Given the description of an element on the screen output the (x, y) to click on. 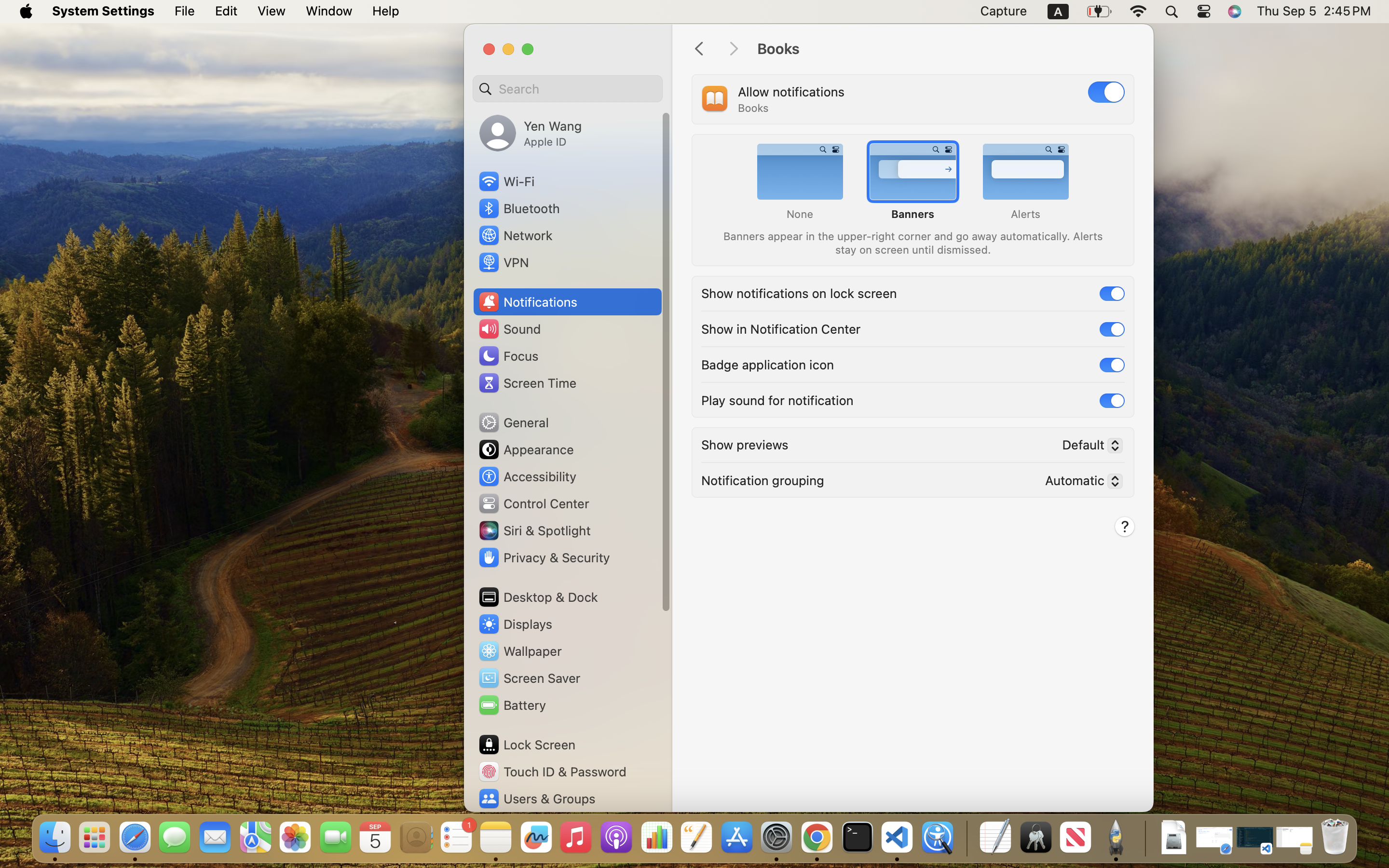
Show notifications on lock screen Element type: AXStaticText (799, 291)
Battery Element type: AXStaticText (511, 704)
Banners appear in the upper-right corner and go away automatically. Alerts stay on screen until dismissed. Element type: AXStaticText (912, 241)
Screen Saver Element type: AXStaticText (528, 677)
Sound Element type: AXStaticText (509, 328)
